Given the description of an element on the screen output the (x, y) to click on. 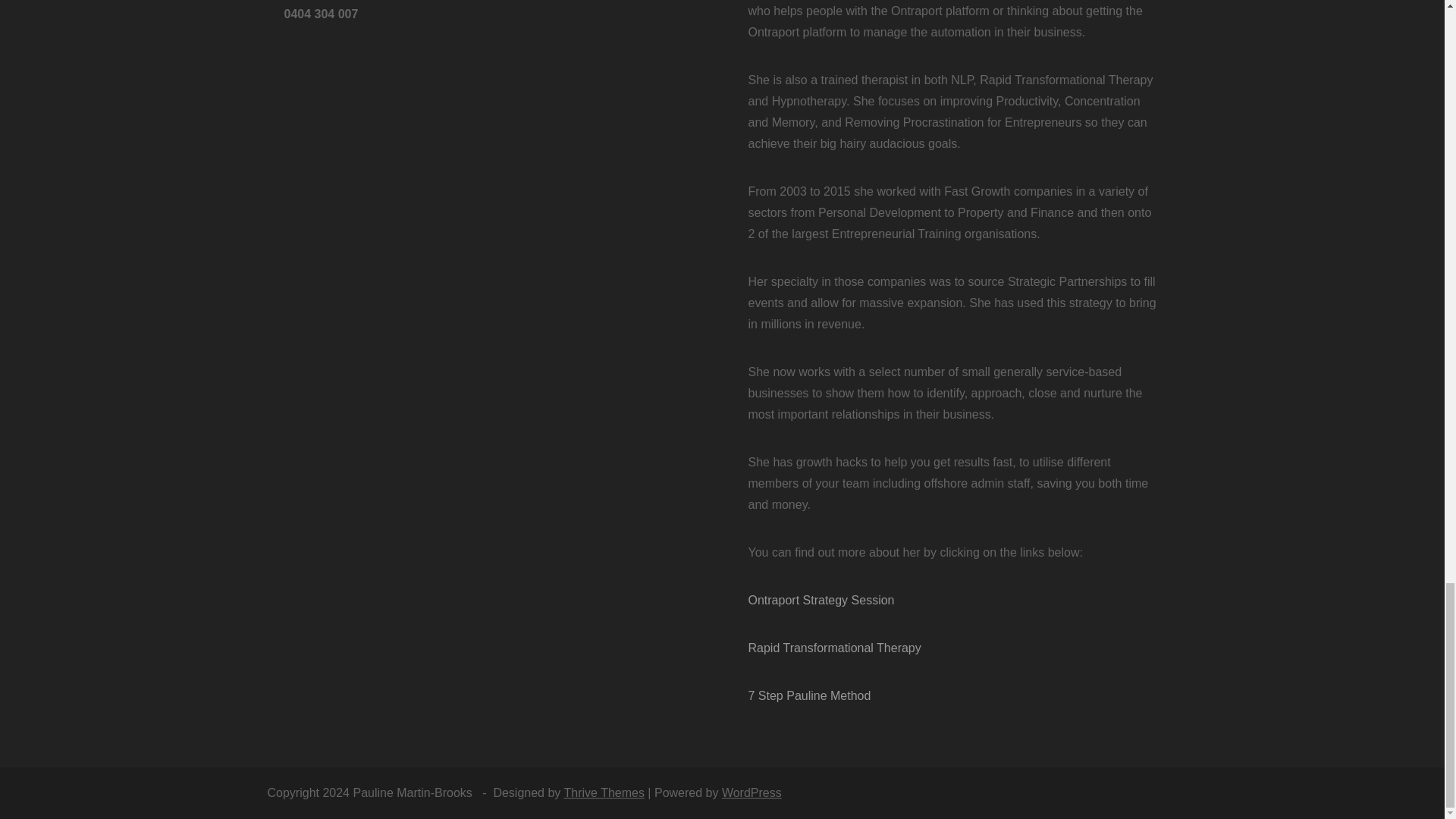
7 Step Pauline Method (809, 695)
Rapid Transformational Therapy (834, 647)
Thrive Themes (604, 792)
Ontraport Strategy Session (820, 599)
WordPress (751, 792)
